Given the description of an element on the screen output the (x, y) to click on. 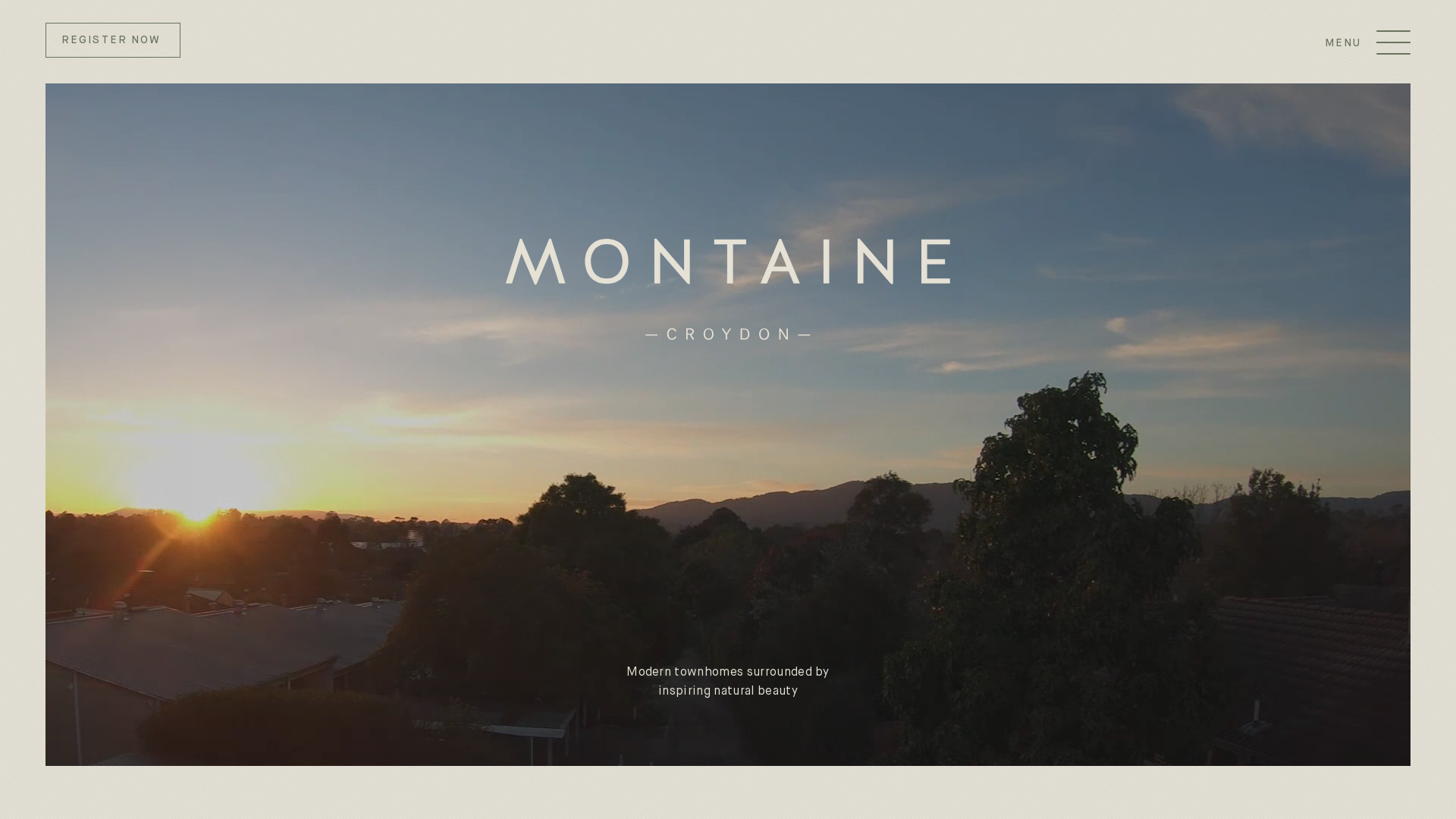
REGISTER NOW Element type: text (112, 39)
